Given the description of an element on the screen output the (x, y) to click on. 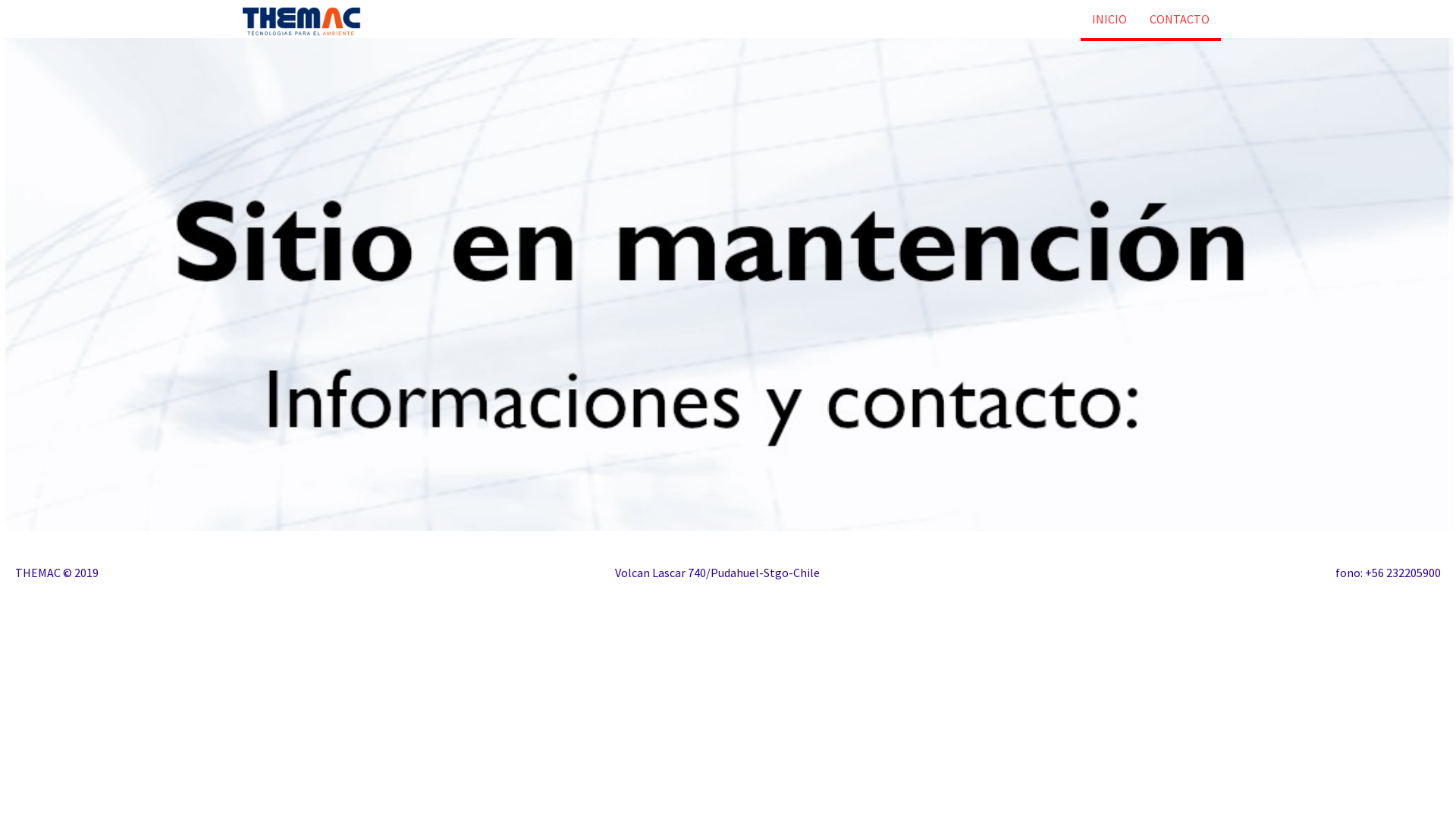
INICIO Element type: text (1109, 18)
fono: +56 232205900 Element type: text (1387, 572)
CONTACTO Element type: text (1179, 18)
